Given the description of an element on the screen output the (x, y) to click on. 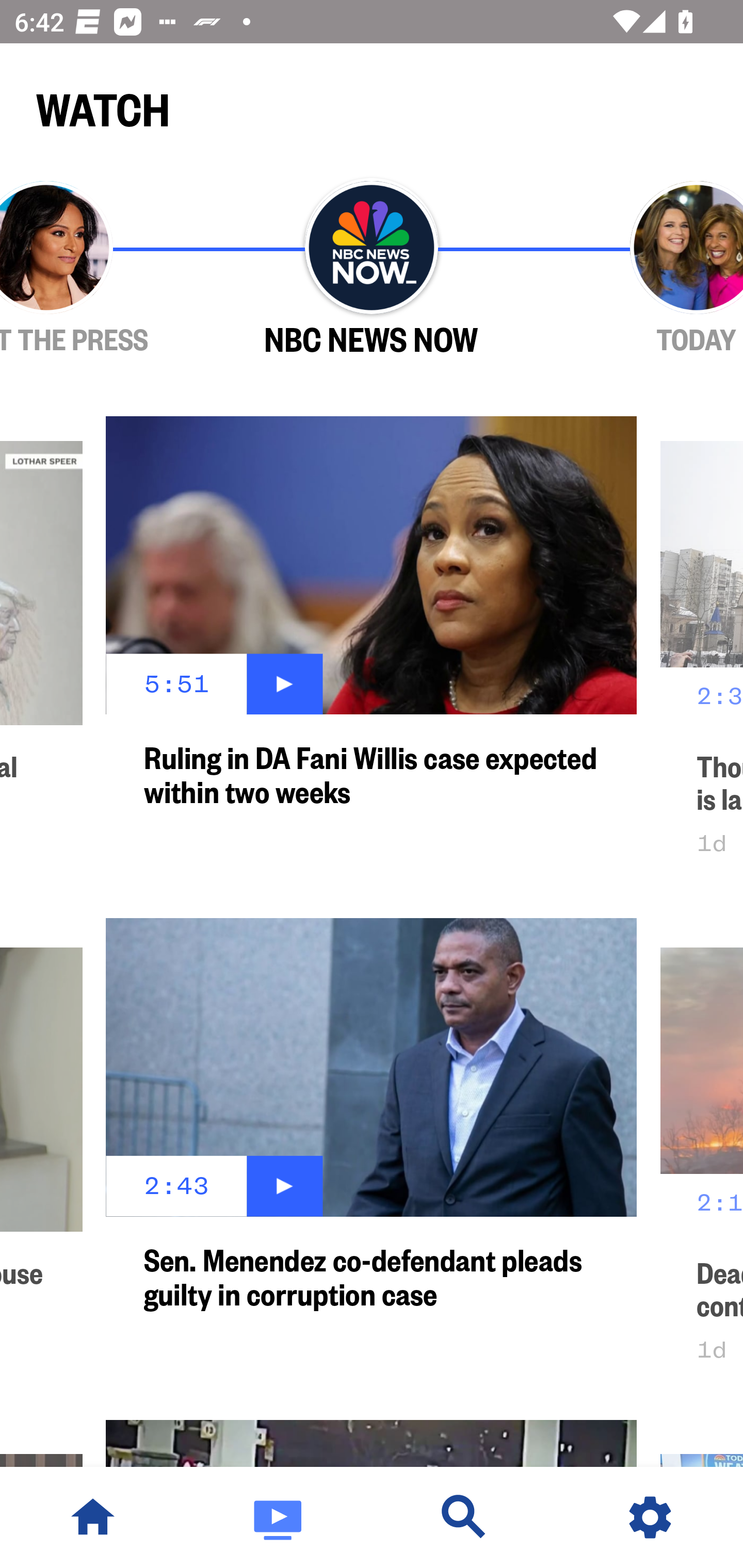
MEET THE PRESS (104, 268)
NBC NEWS NOW (371, 268)
TODAY (638, 268)
NBC News Home (92, 1517)
Discover (464, 1517)
Settings (650, 1517)
